Given the description of an element on the screen output the (x, y) to click on. 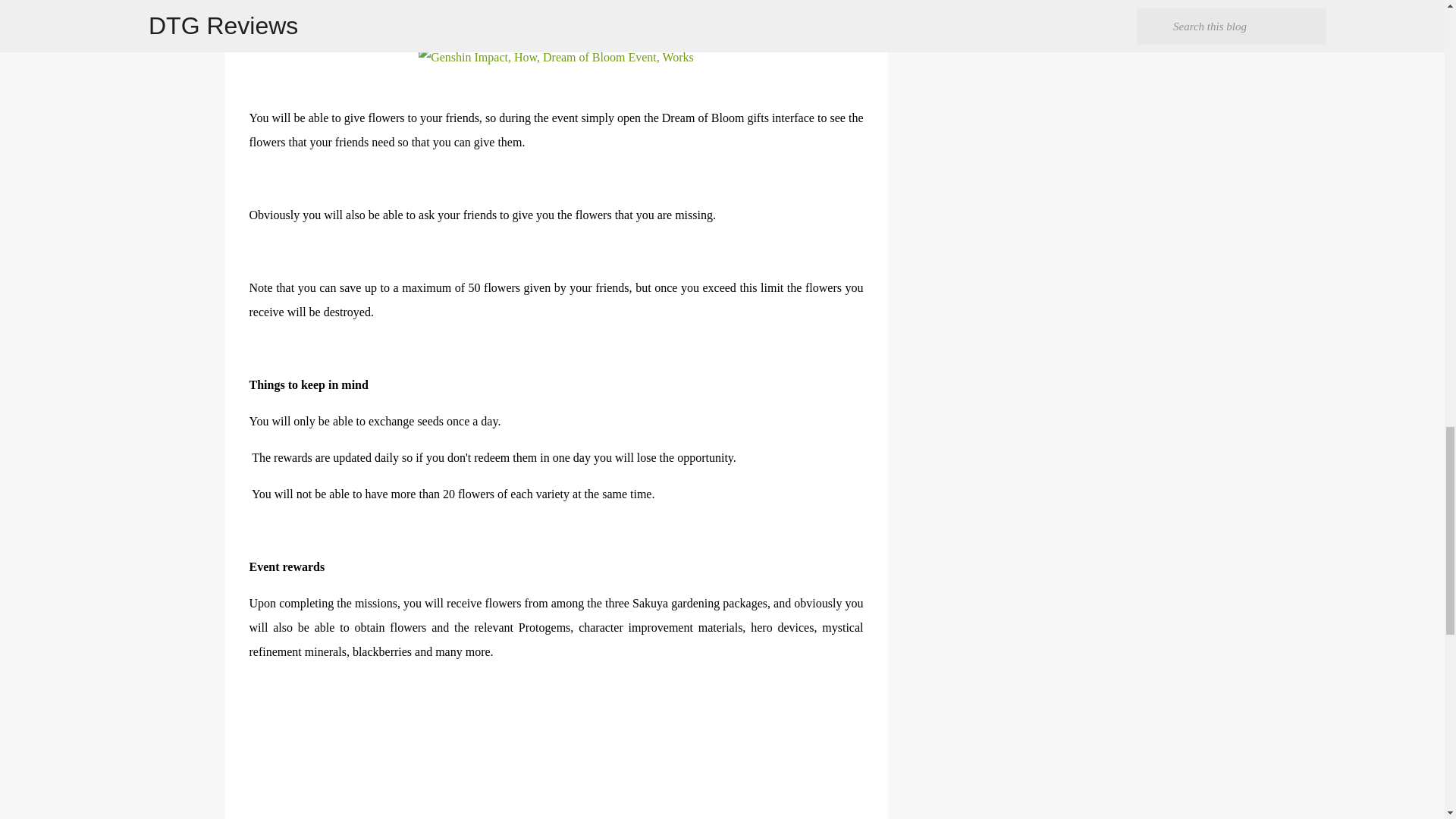
Genshin Impact: How Dream of Bloom Event Works? (556, 57)
